Given the description of an element on the screen output the (x, y) to click on. 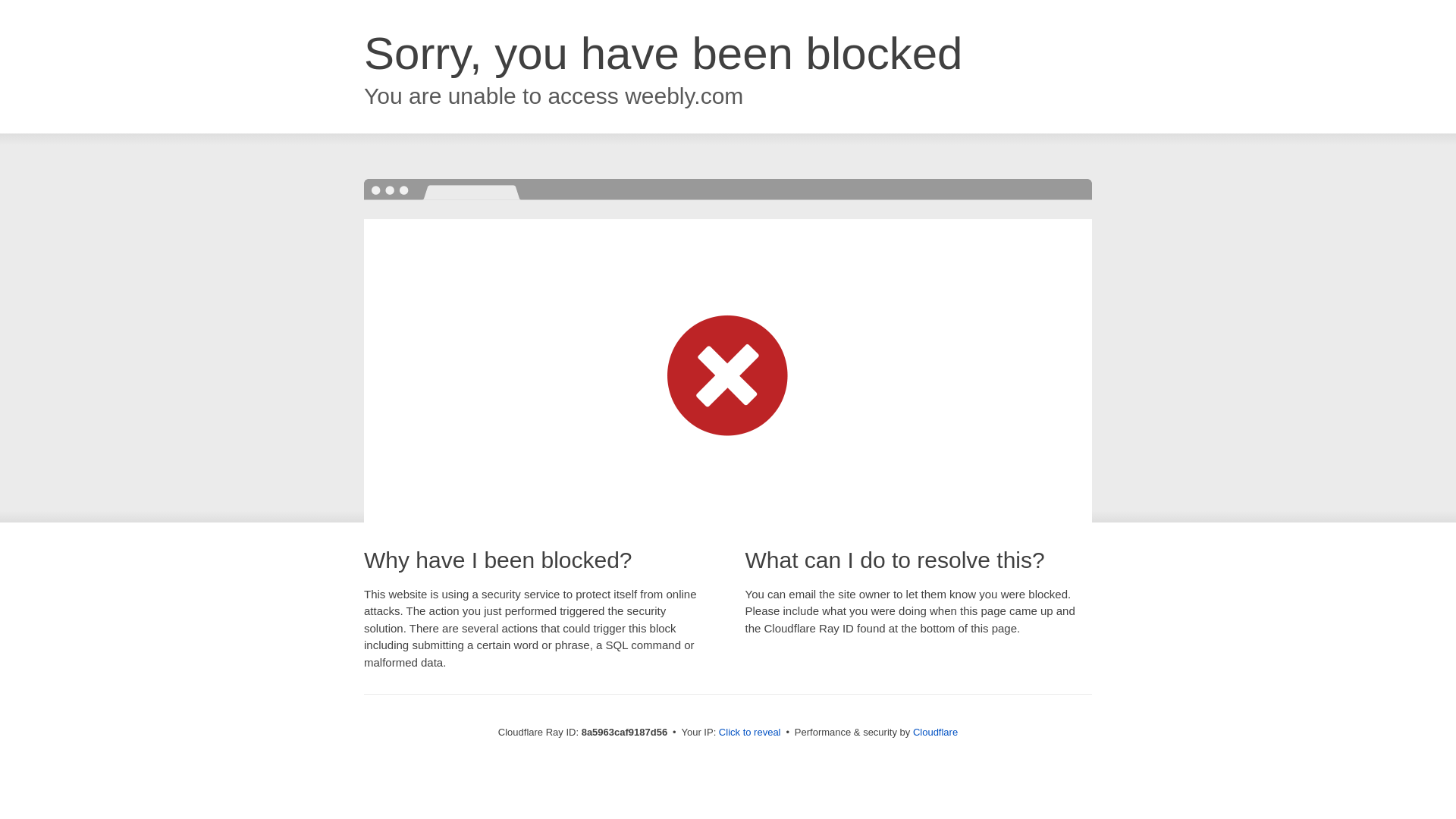
Click to reveal (749, 732)
Cloudflare (935, 731)
